Given the description of an element on the screen output the (x, y) to click on. 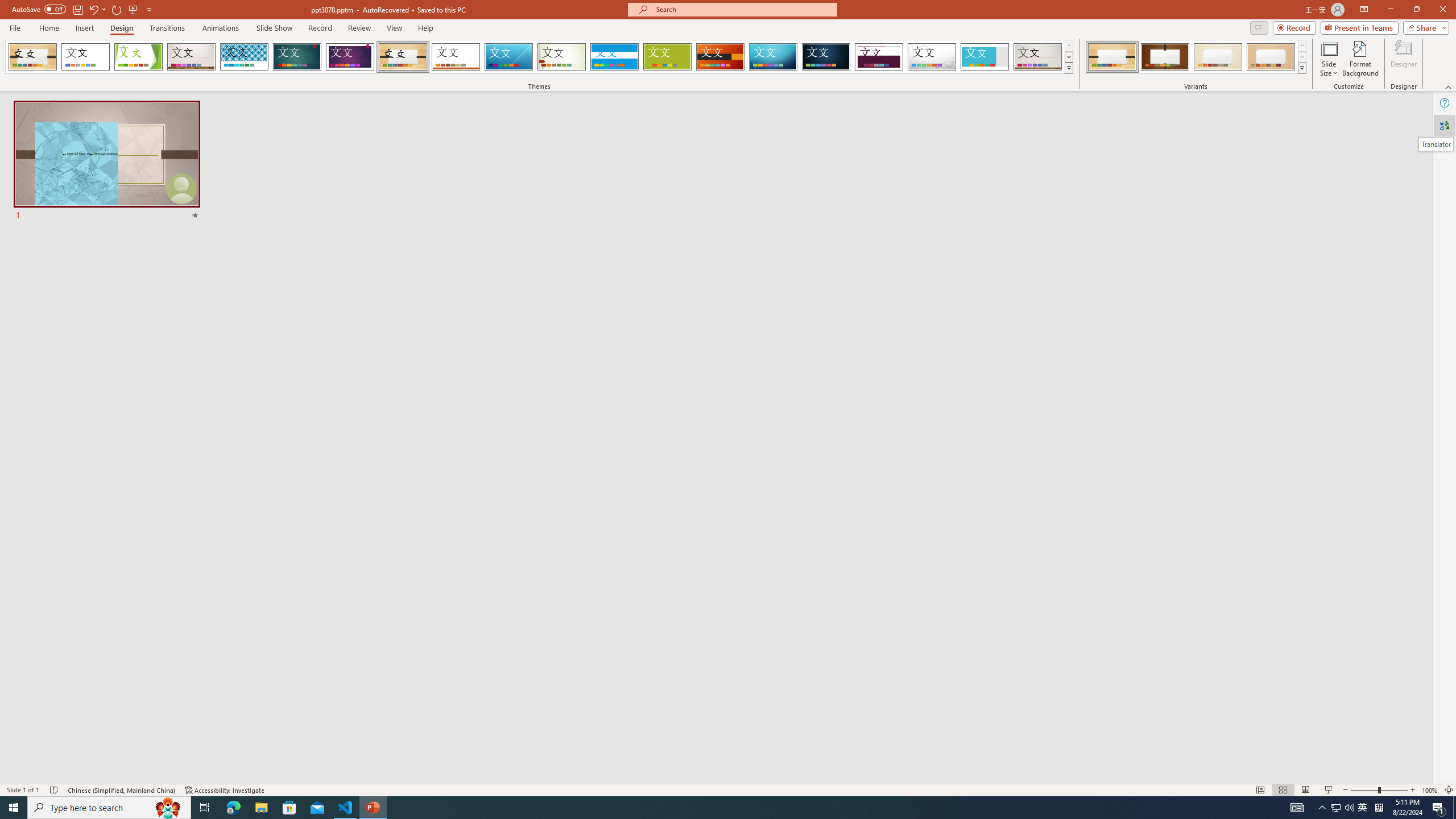
Themes (1068, 67)
Row Down (1301, 56)
Retrospect (455, 56)
Translator (1444, 125)
Organic Variant 4 (1270, 56)
Ion Boardroom (350, 56)
Format Background (1360, 58)
Droplet (931, 56)
